Given the description of an element on the screen output the (x, y) to click on. 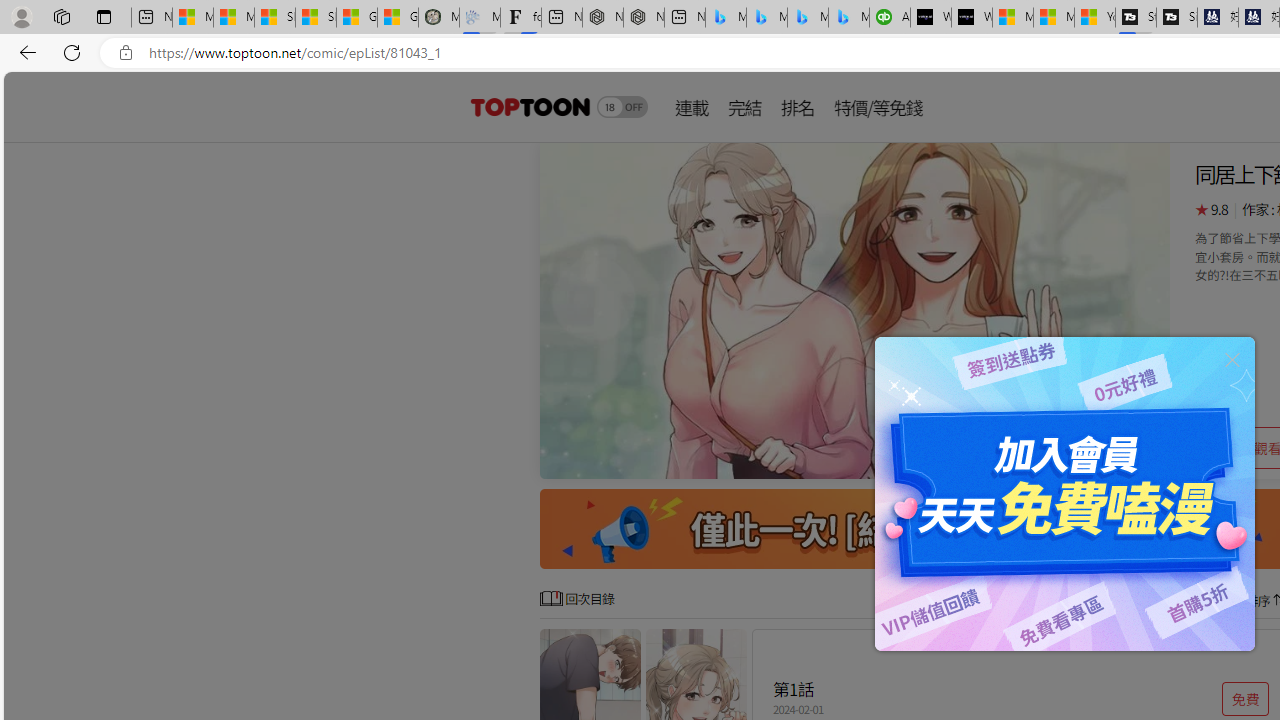
Class:  switch_18mode actionAdultBtn (621, 106)
Microsoft Bing Travel - Stays in Bangkok, Bangkok, Thailand (767, 17)
Class: swiper-slide (854, 310)
